Given the description of an element on the screen output the (x, y) to click on. 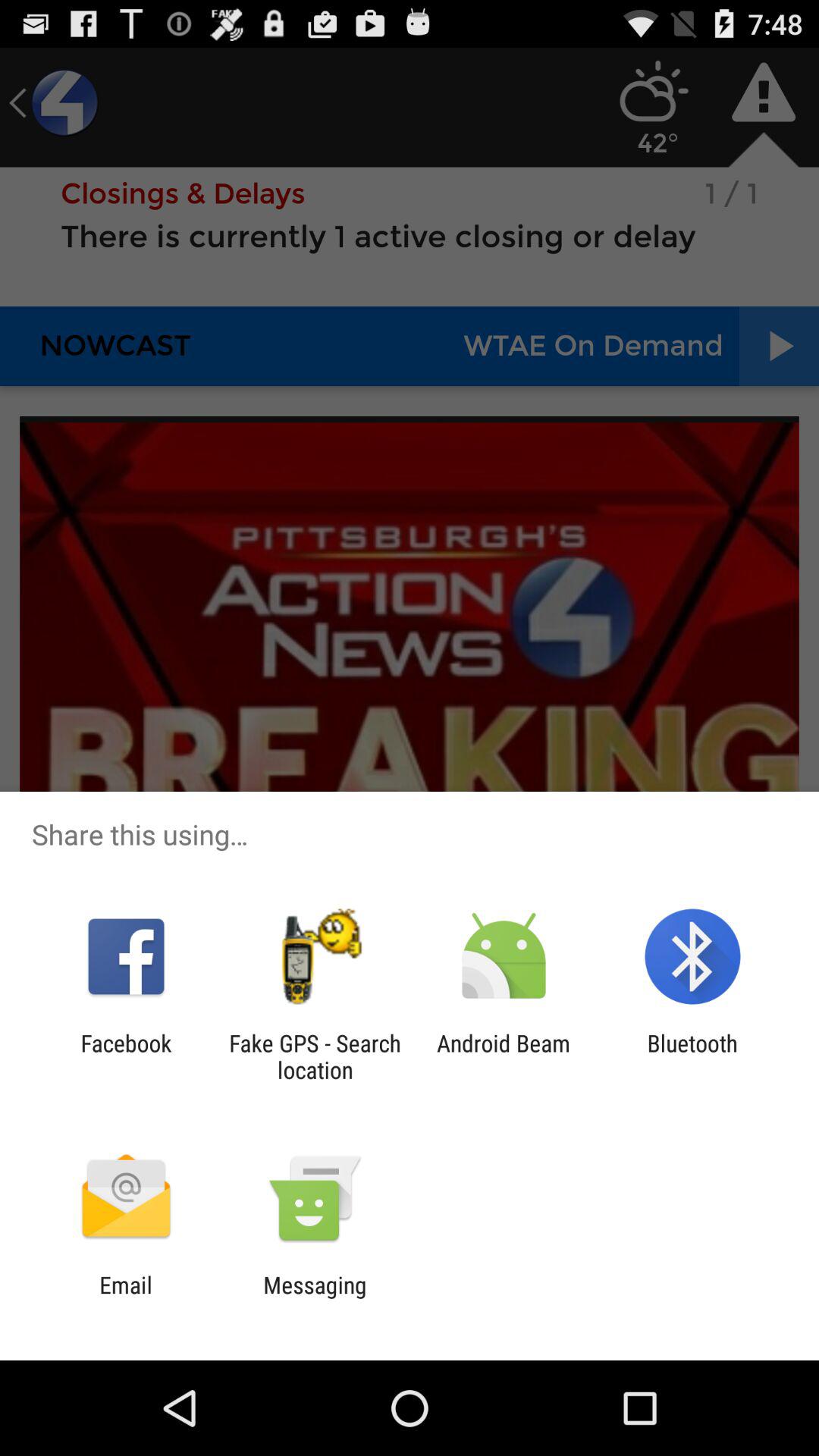
press app to the right of email (314, 1298)
